Given the description of an element on the screen output the (x, y) to click on. 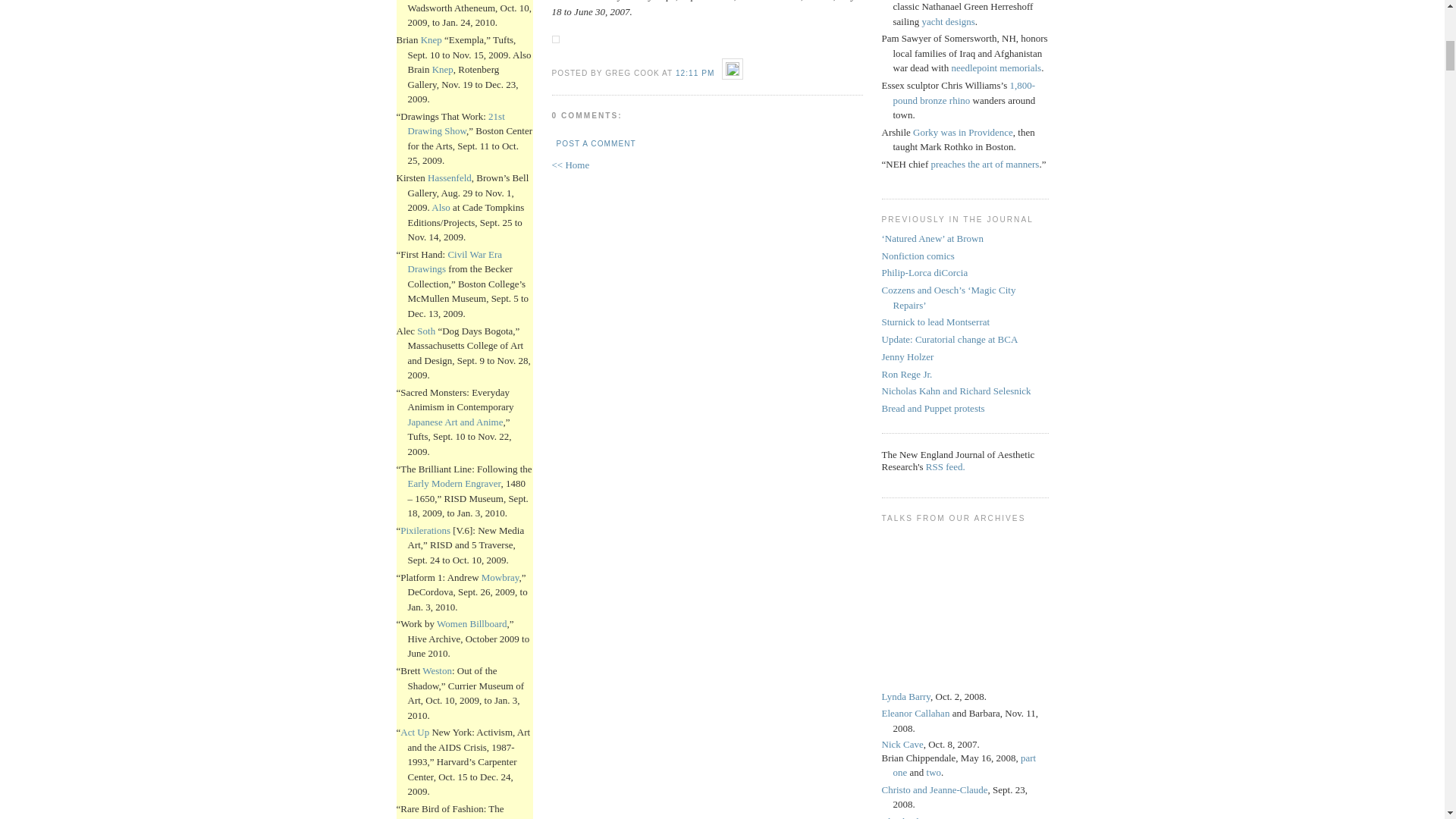
Knep (431, 39)
Act Up (414, 731)
permanent link (694, 72)
Also (439, 206)
Weston (436, 670)
21st Drawing Show (456, 123)
Knep (442, 69)
Mowbray (500, 577)
Soth (425, 330)
Early Modern Engraver (453, 482)
